Given the description of an element on the screen output the (x, y) to click on. 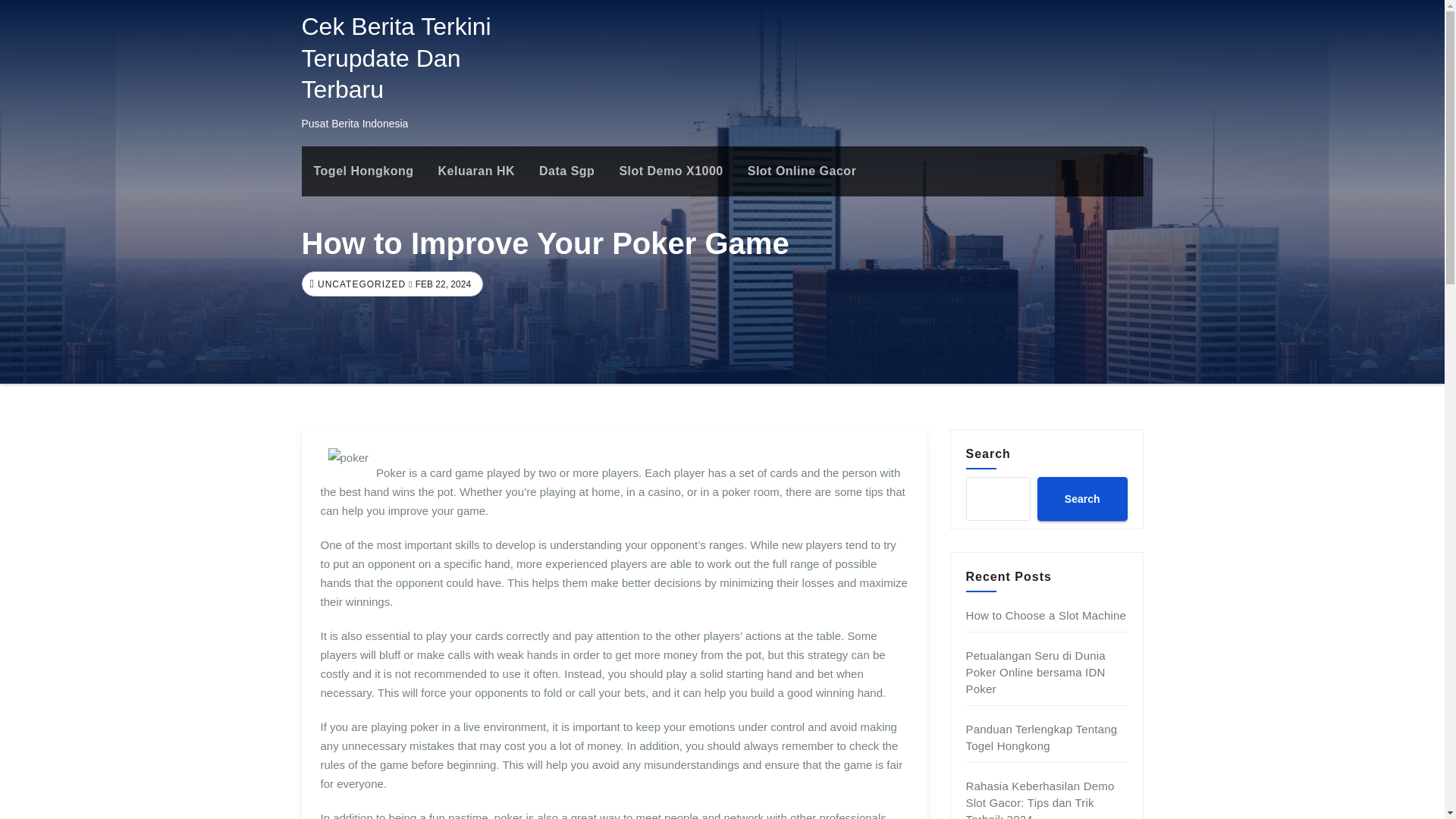
Slot Demo X1000 (671, 171)
data sgp (567, 171)
Search (1081, 498)
slot demo x1000 (671, 171)
Slot Online Gacor (802, 171)
Data Sgp (567, 171)
Petualangan Seru di Dunia Poker Online bersama IDN Poker (1035, 672)
slot online gacor (802, 171)
Keluaran HK (476, 171)
